Given the description of an element on the screen output the (x, y) to click on. 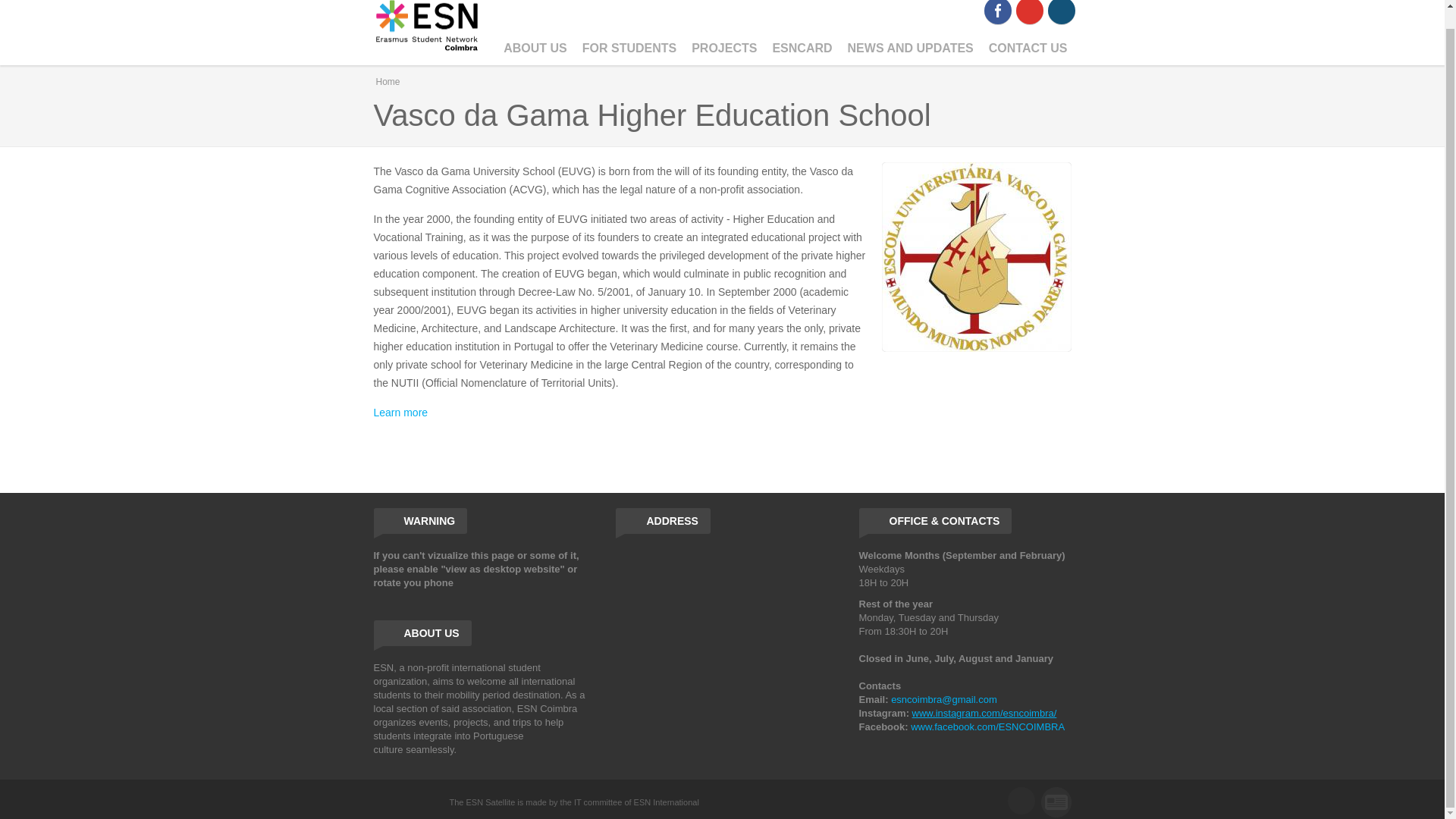
ABOUT US (535, 48)
Home (426, 30)
